Given the description of an element on the screen output the (x, y) to click on. 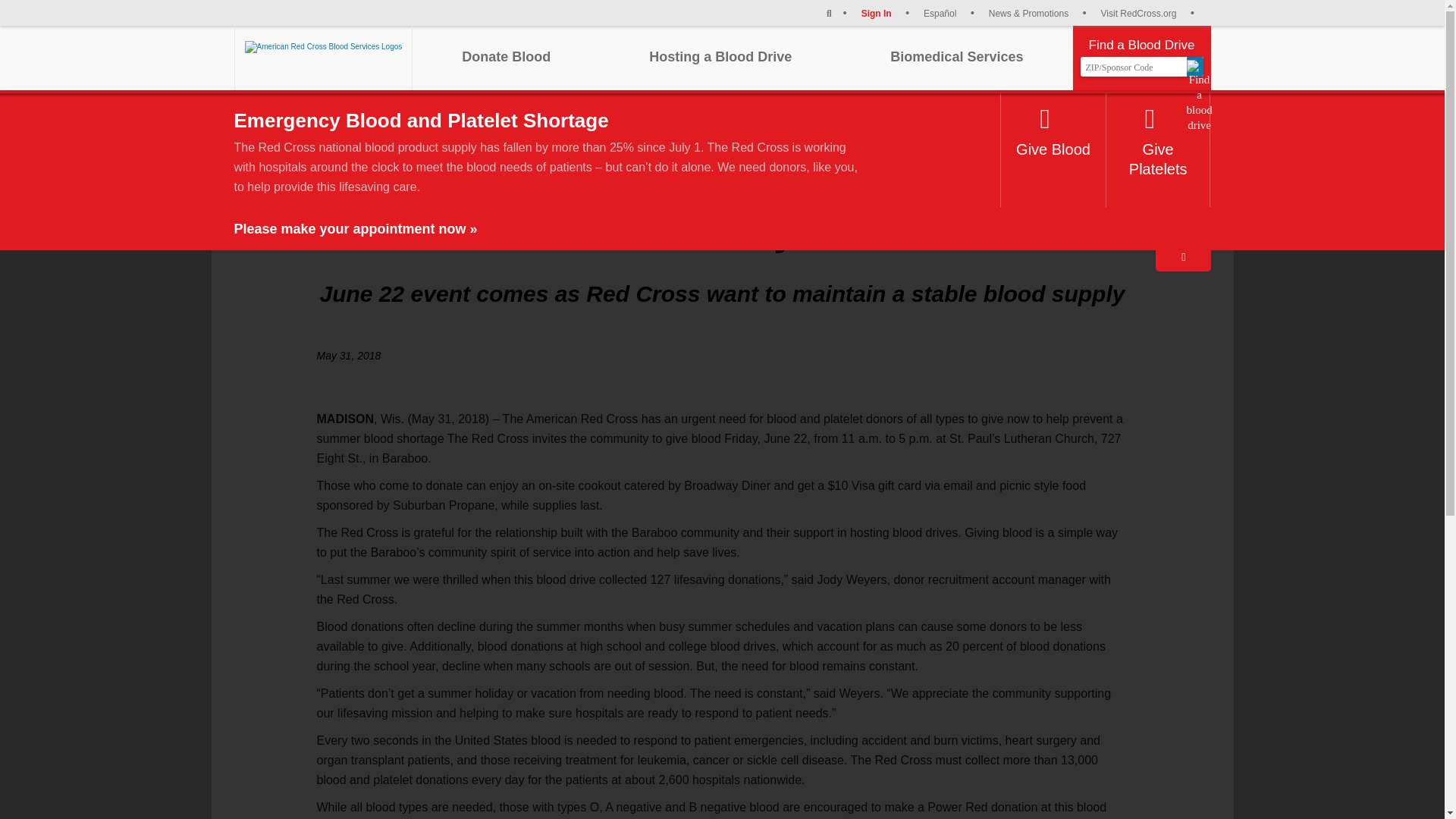
Sign In (885, 13)
Hosting a Blood Drive (720, 56)
Donate Blood (505, 56)
Share on Facebook (1132, 118)
Other share options (1194, 118)
Visit RedCross.org (1146, 13)
Donate Blood (505, 56)
Share via Email (1102, 118)
Tweet (1164, 118)
Hosting a Blood Drive (720, 56)
